Given the description of an element on the screen output the (x, y) to click on. 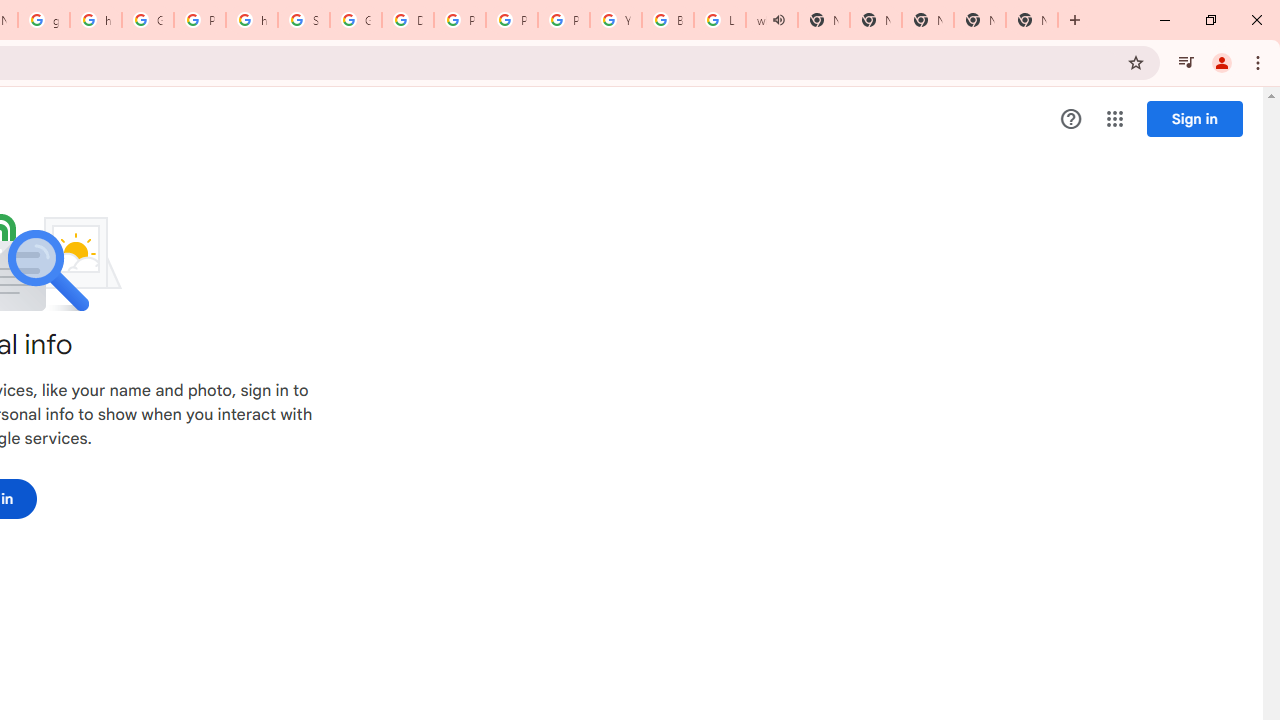
Sign in - Google Accounts (303, 20)
New Tab (1032, 20)
YouTube (616, 20)
Privacy Help Center - Policies Help (511, 20)
Privacy Help Center - Policies Help (459, 20)
